Given the description of an element on the screen output the (x, y) to click on. 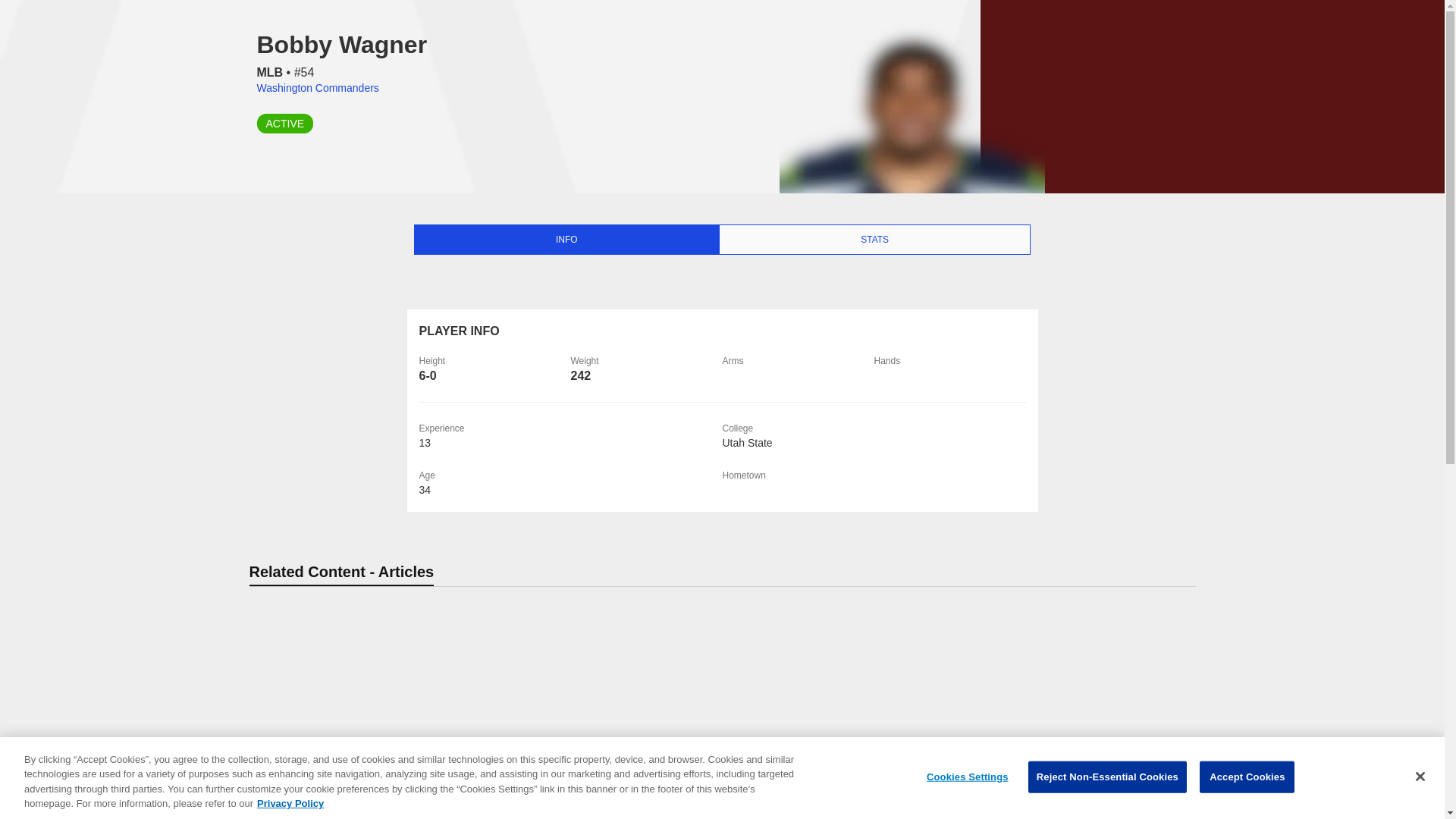
INFO (565, 239)
STATS (874, 239)
Washington Commanders (317, 87)
